Given the description of an element on the screen output the (x, y) to click on. 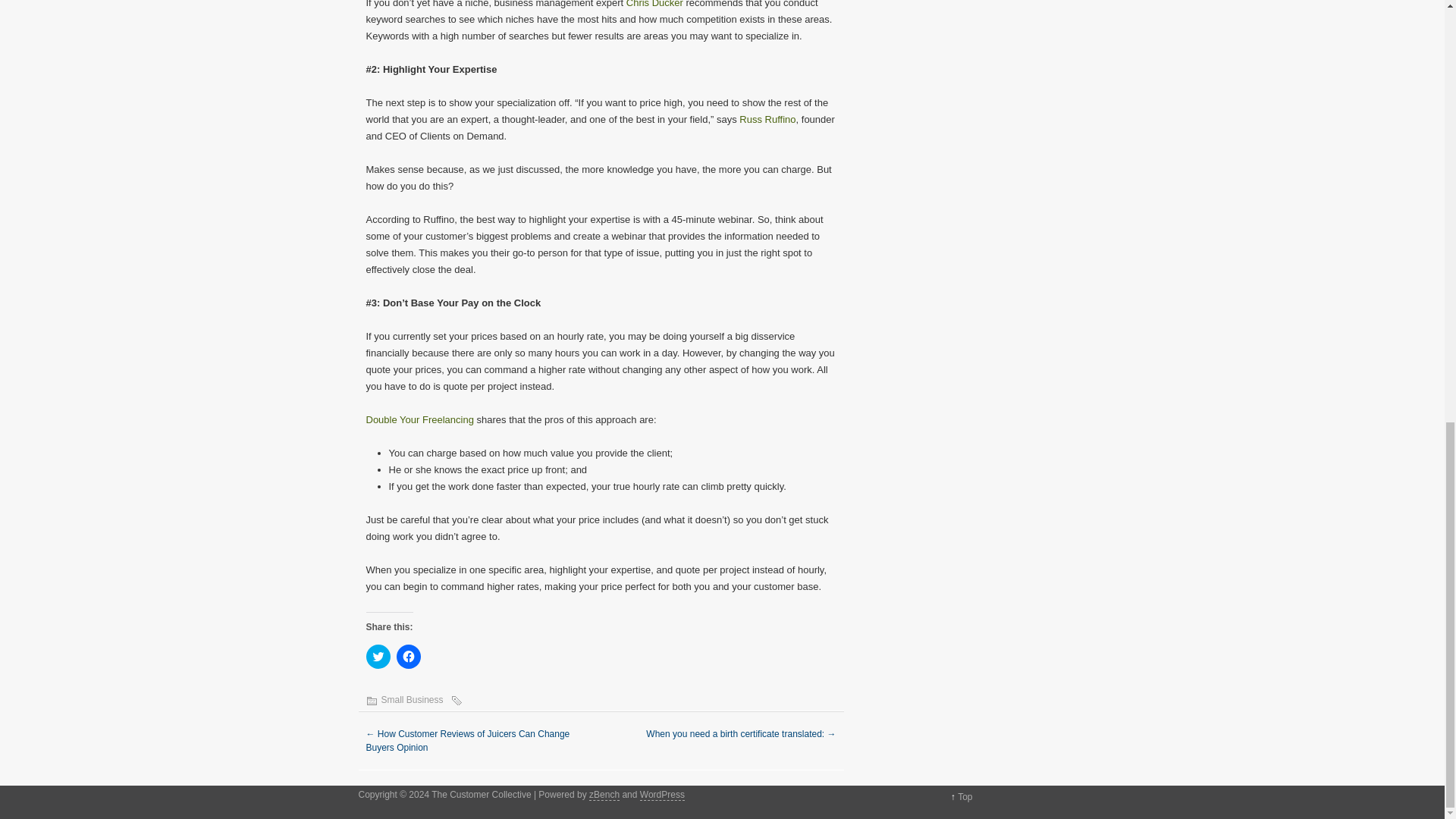
Click to share on Facebook (408, 656)
Small Business (411, 699)
Back to top (965, 796)
Russ Ruffino (766, 119)
Chris Ducker (654, 4)
Double Your Freelancing (419, 419)
Click to share on Twitter (377, 656)
